Given the description of an element on the screen output the (x, y) to click on. 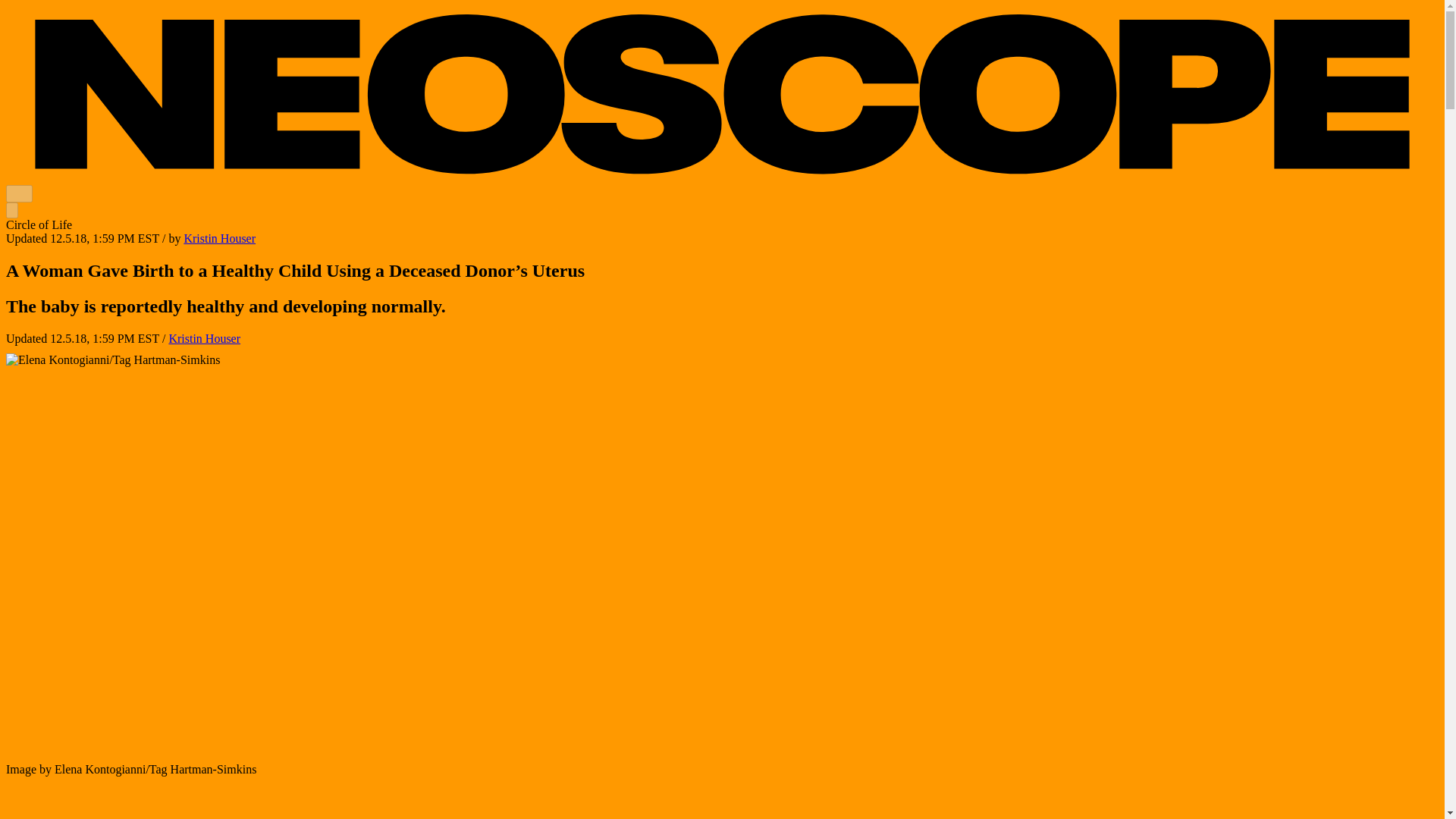
Kristin Houser (219, 237)
Kristin Houser (219, 237)
Kristin Houser (204, 338)
Kristin Houser (204, 338)
